Given the description of an element on the screen output the (x, y) to click on. 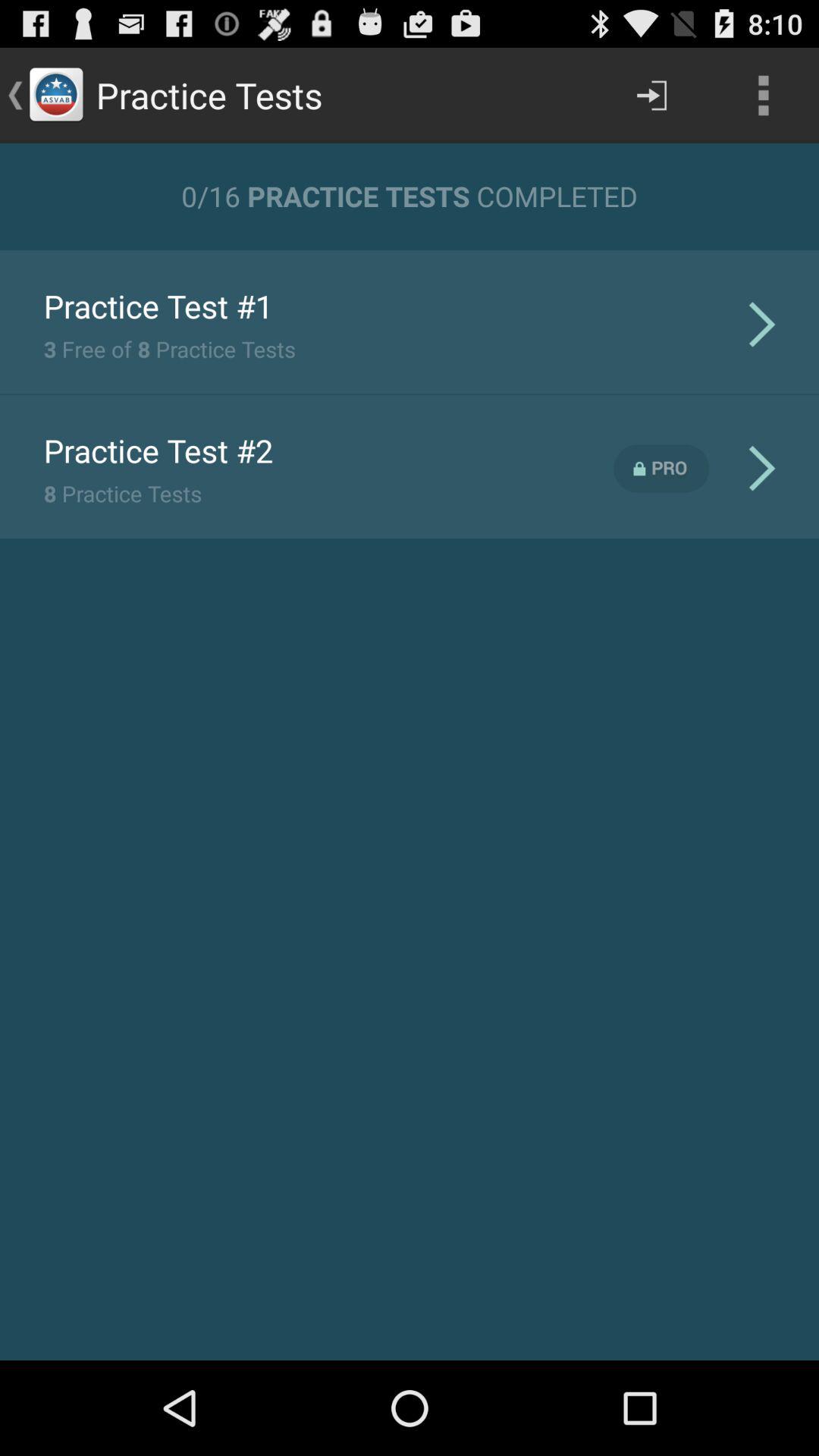
launch the app above practice test #2 icon (169, 348)
